Given the description of an element on the screen output the (x, y) to click on. 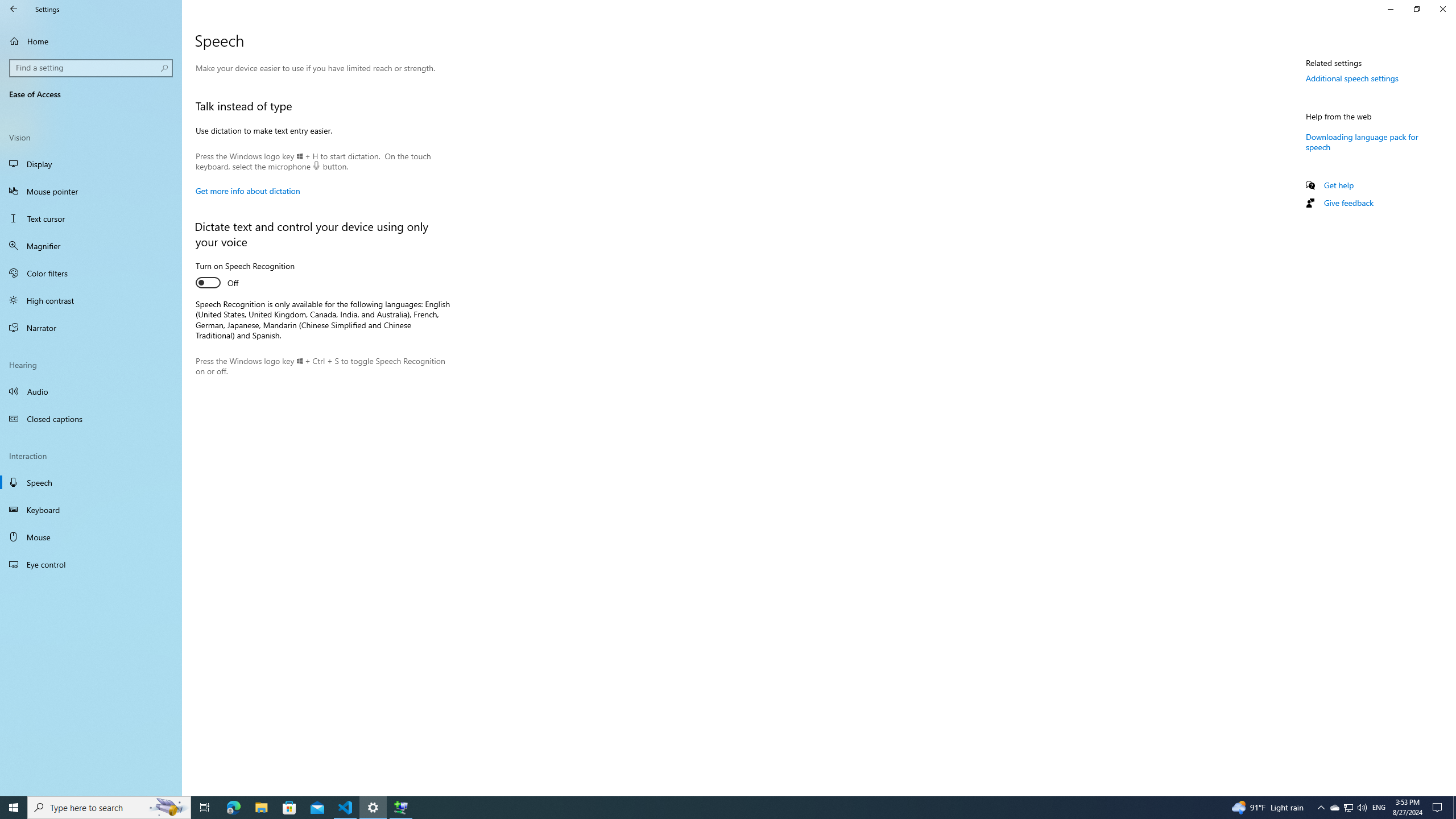
Closed captions (91, 418)
Text cursor (91, 217)
